Given the description of an element on the screen output the (x, y) to click on. 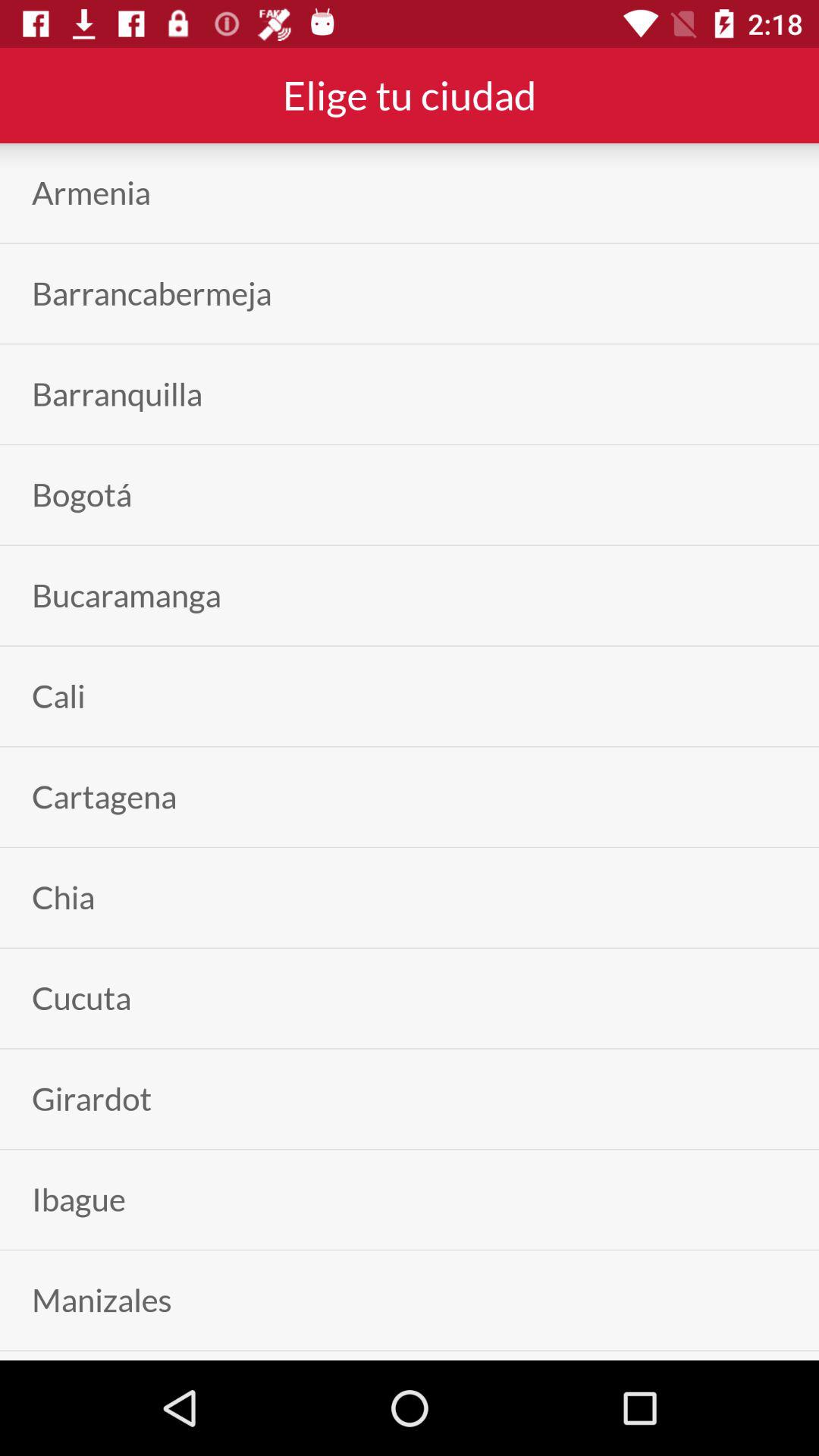
open the cali item (58, 696)
